Given the description of an element on the screen output the (x, y) to click on. 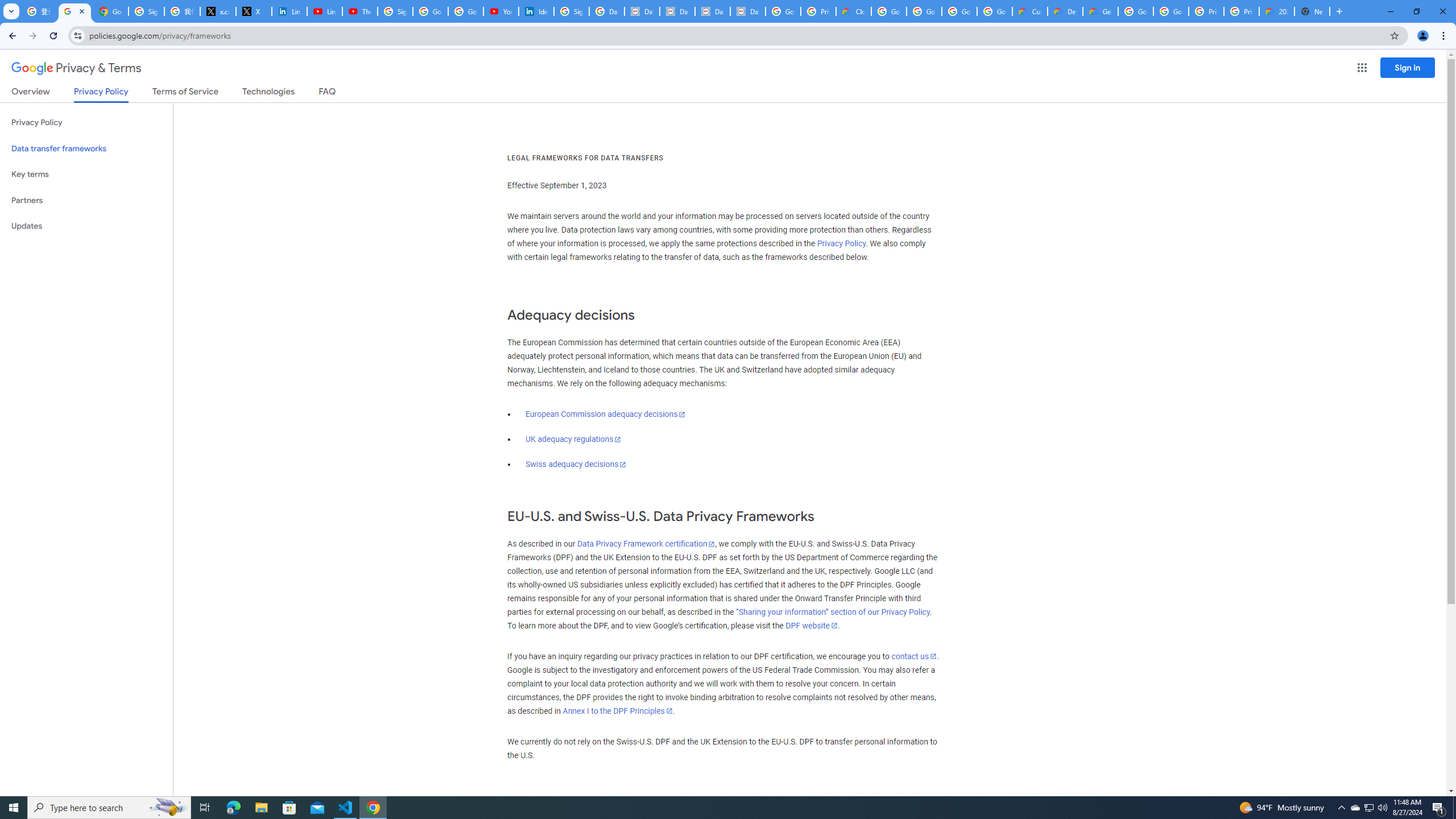
DPF website (810, 625)
Google Workspace - Specific Terms (959, 11)
Swiss adequacy decisions (575, 464)
UK adequacy regulations (573, 439)
